Given the description of an element on the screen output the (x, y) to click on. 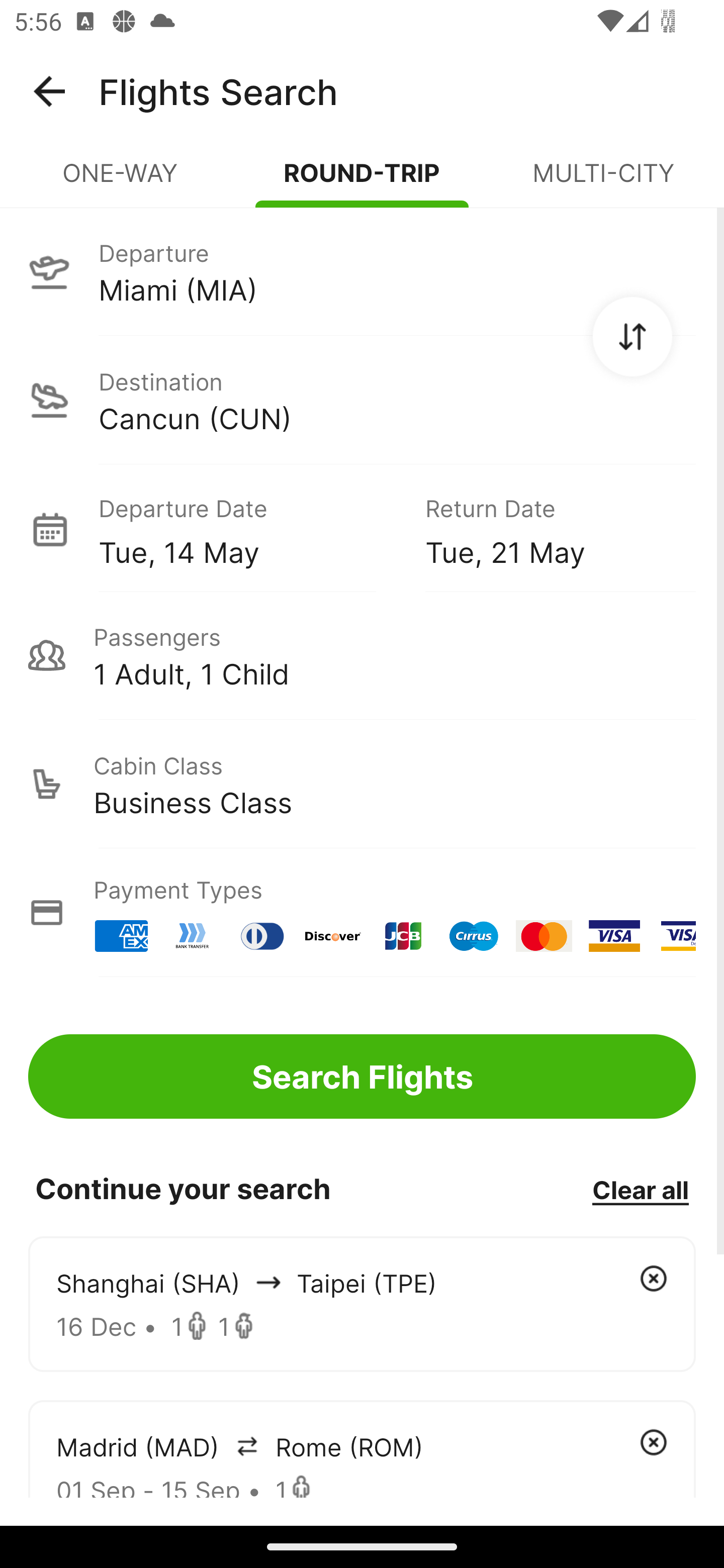
ONE-WAY (120, 180)
ROUND-TRIP (361, 180)
MULTI-CITY (603, 180)
Departure Miami (MIA) (362, 270)
Destination Cancun (CUN) (362, 400)
Departure Date Tue, 14 May (247, 528)
Return Date Tue, 21 May (546, 528)
Passengers 1 Adult, 1 Child (362, 655)
Cabin Class Business Class (362, 783)
Payment Types (362, 912)
Search Flights (361, 1075)
Clear all (640, 1189)
